Given the description of an element on the screen output the (x, y) to click on. 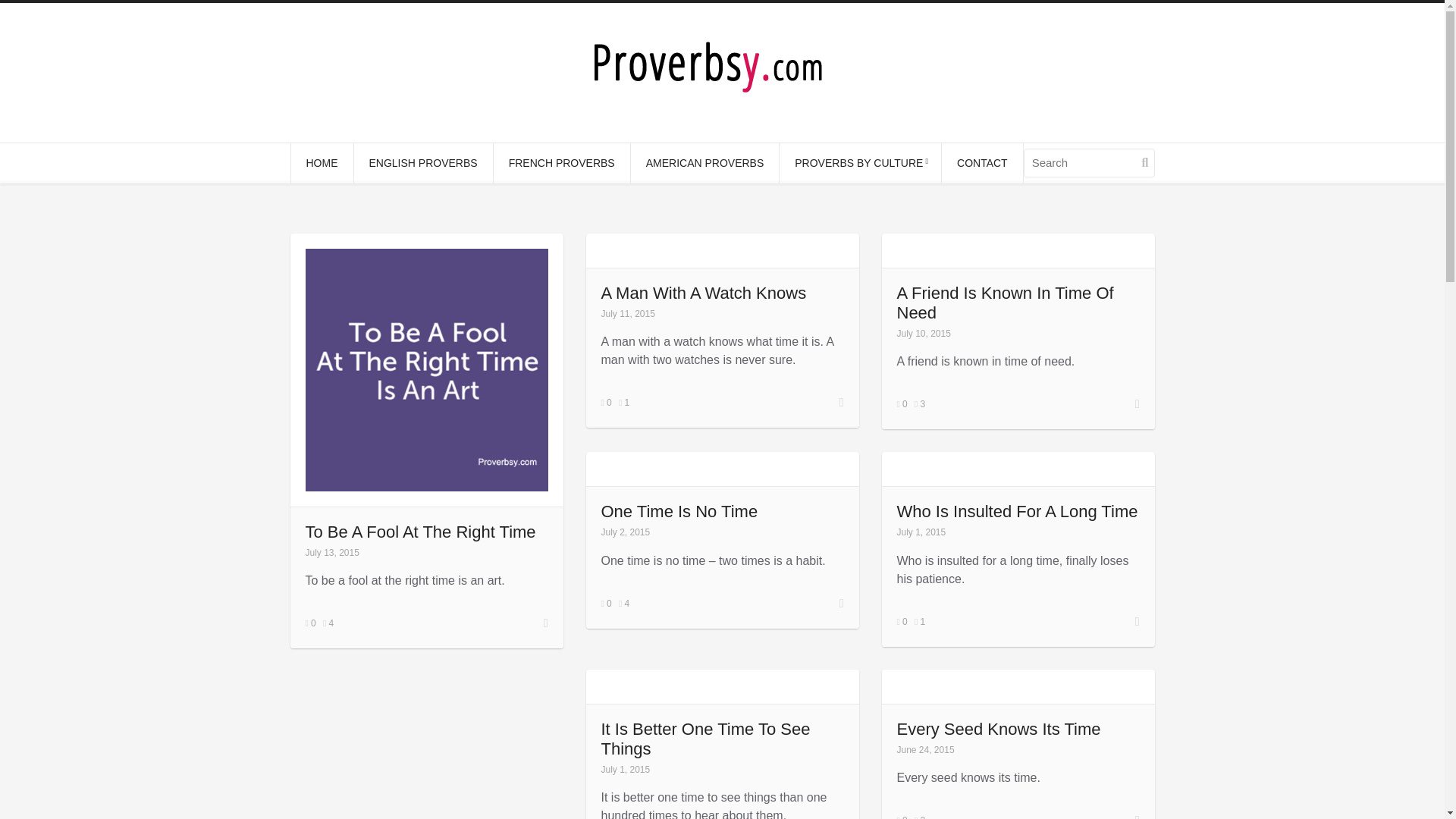
ENGLISH PROVERBS (422, 163)
AMERICAN PROVERBS (704, 163)
Love this. (623, 402)
Permalink to A Man With A Watch Knows (702, 292)
Permalink to One Time Is No Time (678, 511)
Love this. (919, 403)
Permalink to A Friend Is Known In Time Of Need (1004, 302)
Permalink to To Be A Fool At The Right Time (419, 530)
PROVERBS BY CULTURE (859, 163)
Love this. (328, 623)
